Given the description of an element on the screen output the (x, y) to click on. 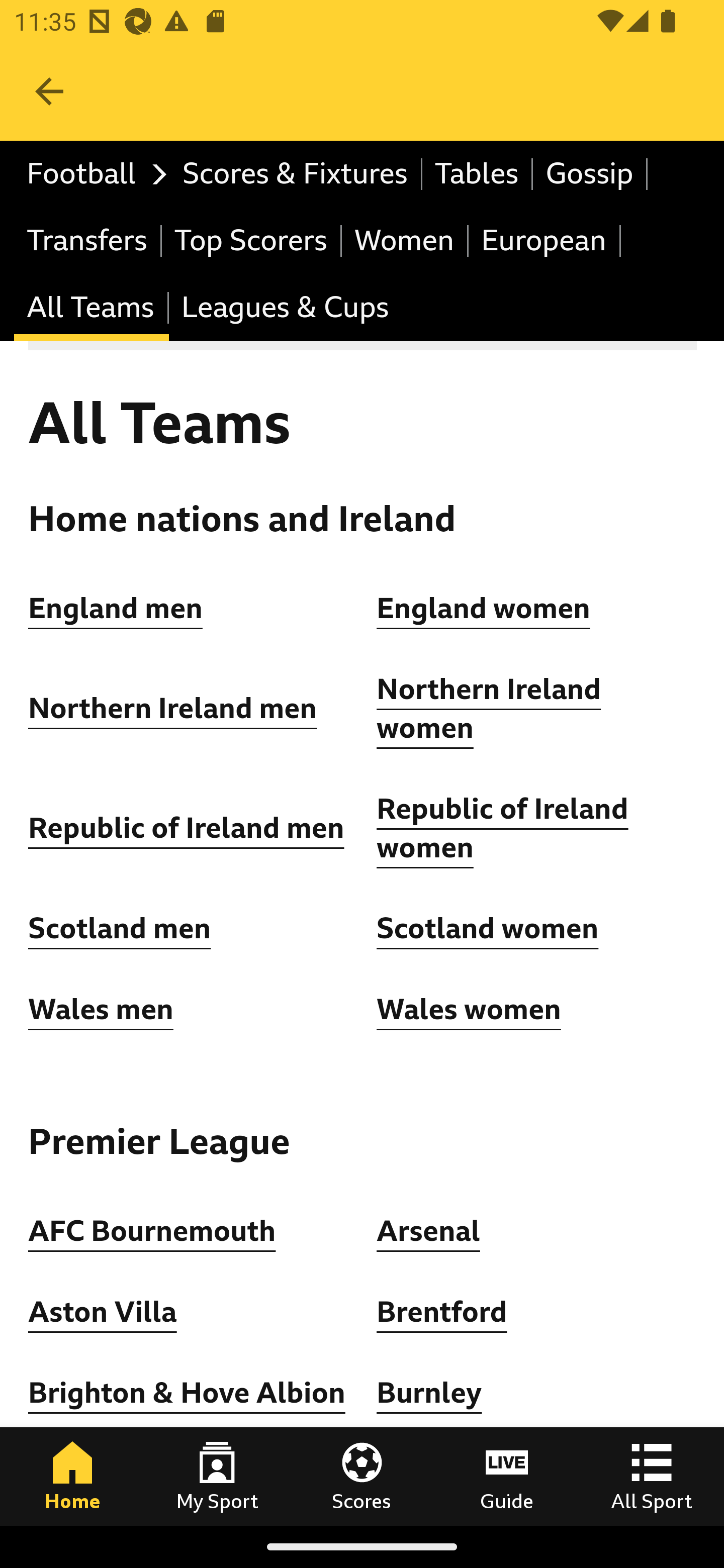
Navigate up (49, 91)
Football (91, 173)
Scores & Fixtures (295, 173)
Tables (477, 173)
Gossip (590, 173)
Transfers (88, 240)
Top Scorers (251, 240)
Women (405, 240)
European (544, 240)
All Teams (91, 308)
Leagues & Cups (284, 308)
England men (116, 608)
England women (483, 608)
Northern Ireland women (488, 709)
Northern Ireland men (173, 708)
Republic of Ireland women (502, 828)
Republic of Ireland men (186, 827)
Scotland men (120, 929)
Scotland women (487, 929)
Wales men (100, 1009)
Wales women (468, 1009)
AFC Bournemouth (151, 1230)
Arsenal (428, 1230)
Aston Villa (102, 1312)
Brentford (442, 1312)
Brighton & Hove Albion (187, 1393)
Burnley (429, 1393)
My Sport (216, 1475)
Scores (361, 1475)
Guide (506, 1475)
All Sport (651, 1475)
